Given the description of an element on the screen output the (x, y) to click on. 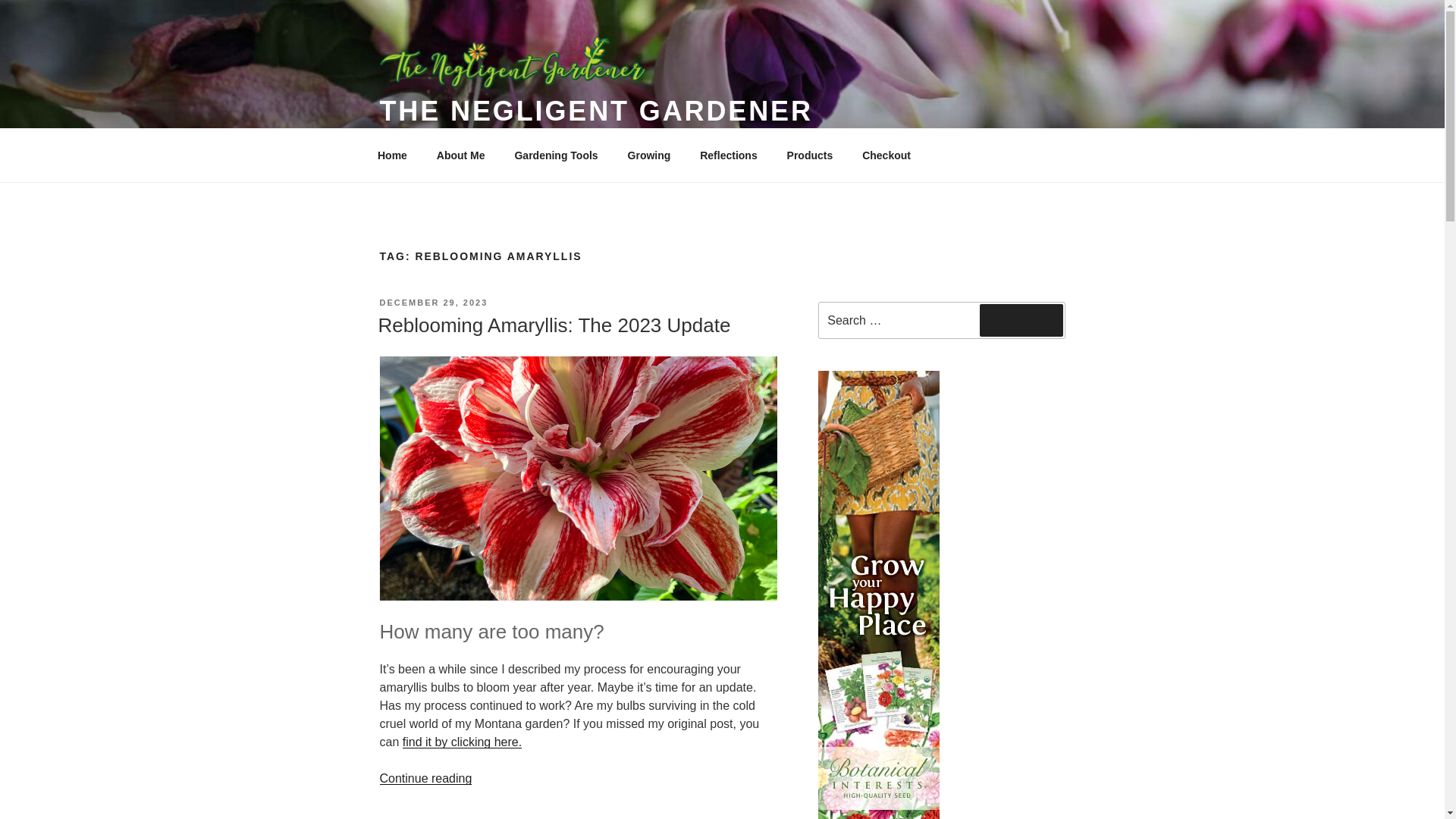
Reflections (728, 155)
DECEMBER 29, 2023 (432, 302)
THE NEGLIGENT GARDENER (595, 110)
Home (392, 155)
find it by clicking here. (462, 741)
Search (1020, 319)
Reblooming Amaryllis: The 2023 Update (553, 324)
Products (809, 155)
Growing (649, 155)
About Me (460, 155)
Gardening Tools (555, 155)
Checkout (886, 155)
